Given the description of an element on the screen output the (x, y) to click on. 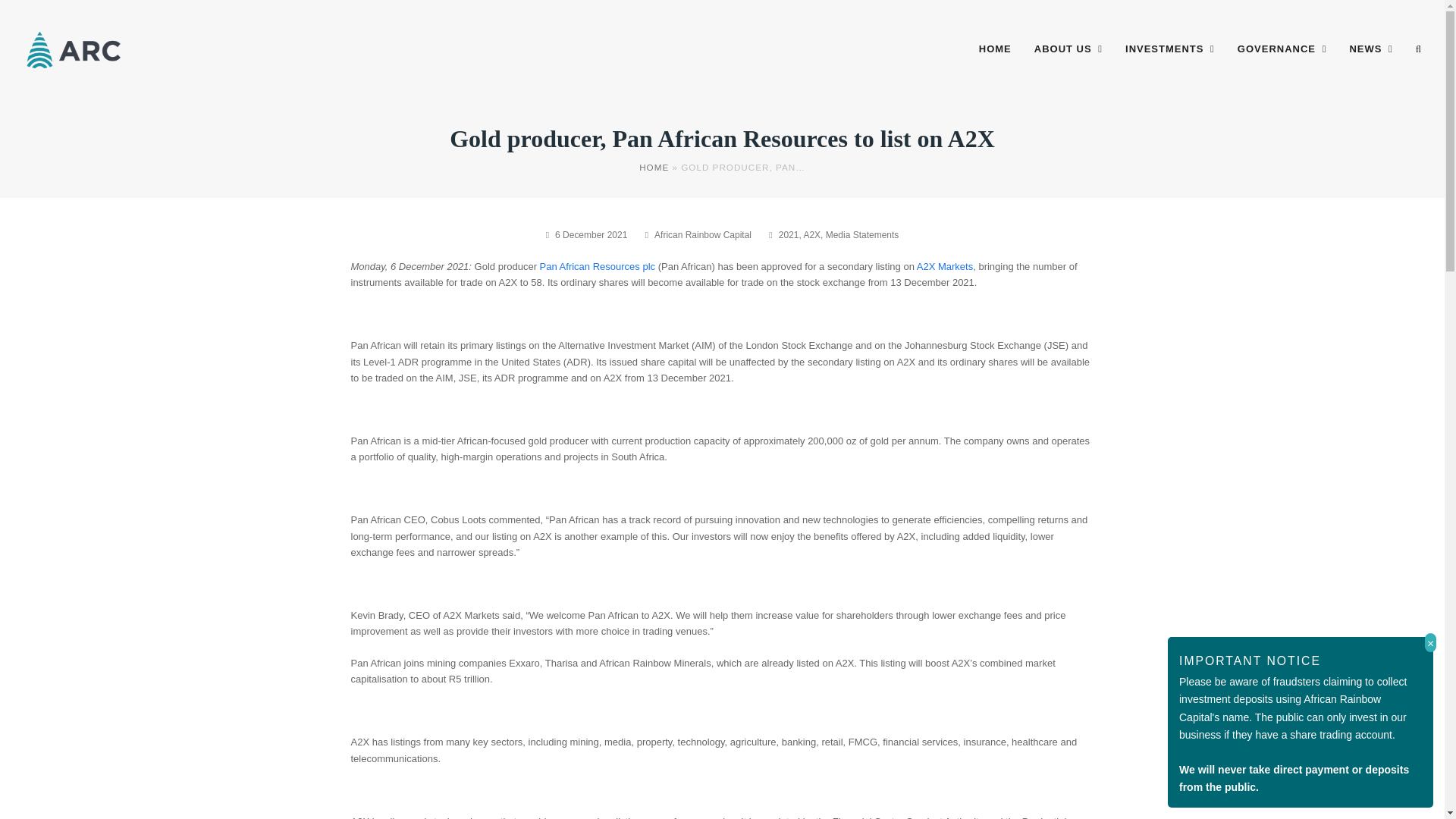
A2X (812, 235)
Pan African Resources plc (597, 266)
HOME (995, 48)
A2X Markets (944, 266)
GOVERNANCE (1281, 48)
INVESTMENTS (1169, 48)
2021 (788, 235)
HOME (653, 166)
Media Statements (862, 235)
African Rainbow Capital (702, 235)
Posts by African Rainbow Capital (702, 235)
NEWS (1370, 48)
ABOUT US (1068, 48)
